Given the description of an element on the screen output the (x, y) to click on. 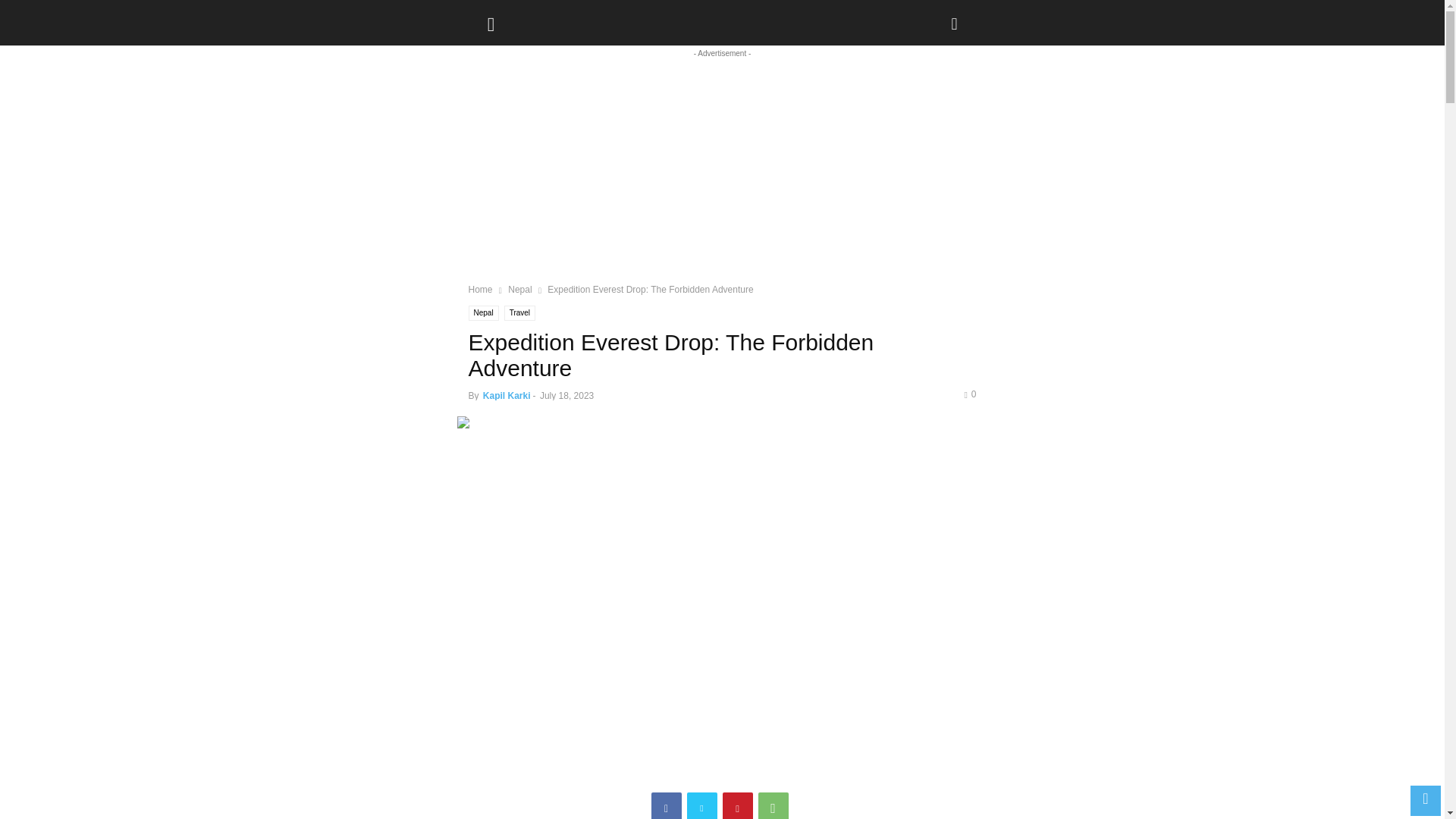
Source Nepal (546, 18)
View all posts in Nepal (519, 289)
0 (969, 394)
WhatsApp (773, 805)
Nepal (519, 289)
Home (480, 289)
Pinterest (737, 805)
Facebook (665, 805)
Kapil Karki (507, 395)
Nepal (483, 313)
Twitter (702, 805)
Travel (519, 313)
